Given the description of an element on the screen output the (x, y) to click on. 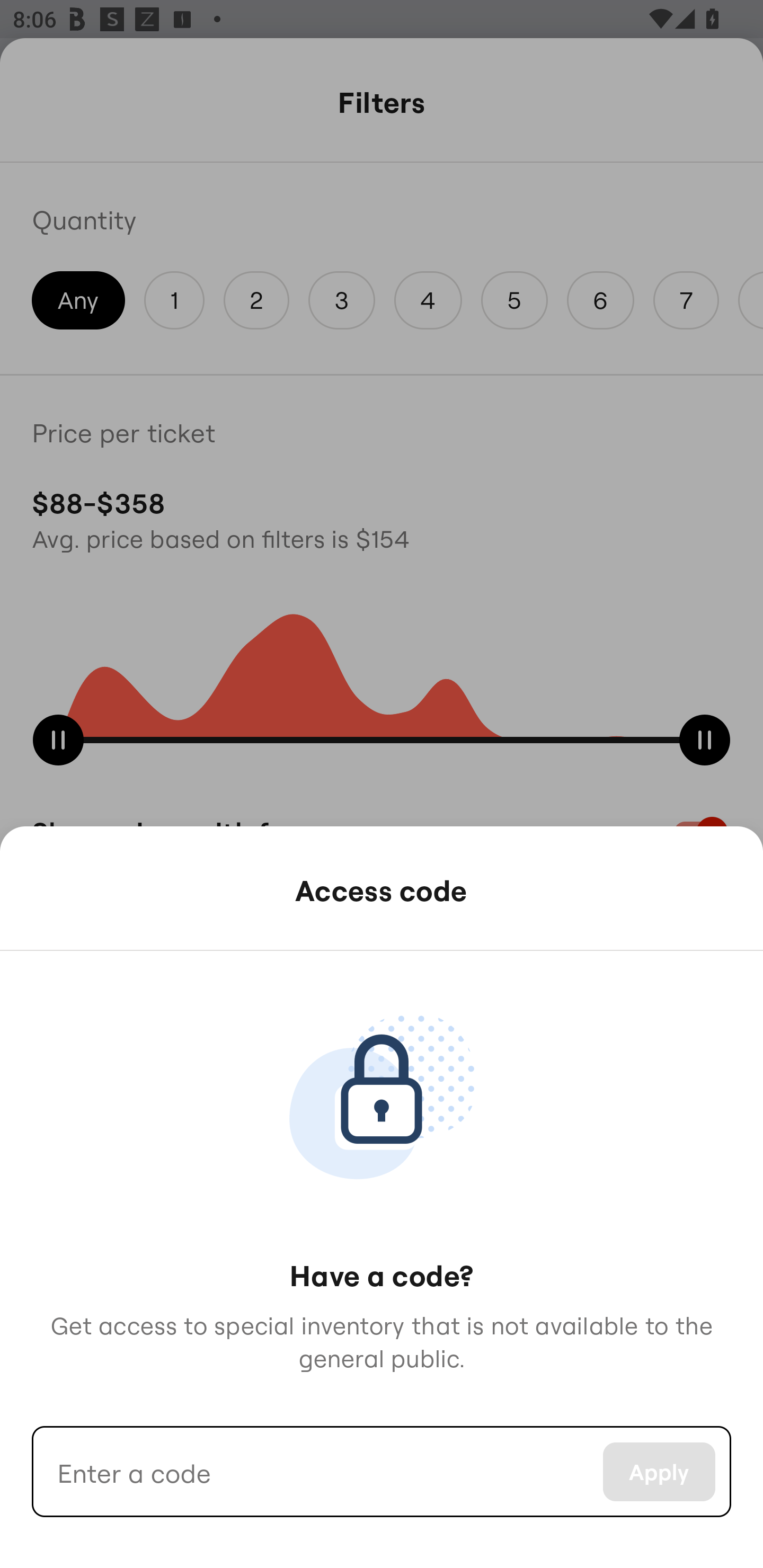
Enter a code (317, 1471)
Apply (658, 1471)
